Given the description of an element on the screen output the (x, y) to click on. 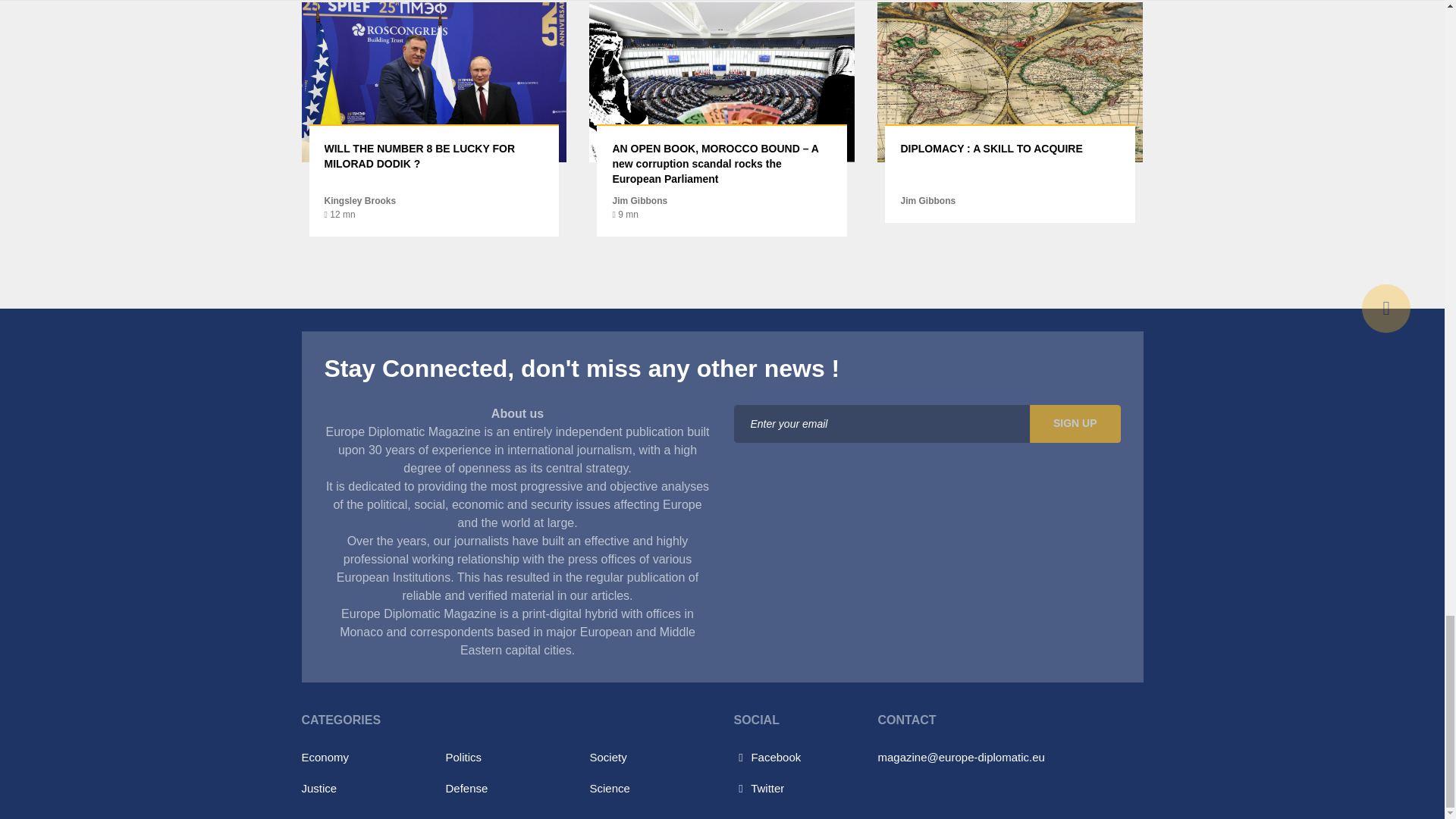
Justice (319, 788)
Economy (325, 757)
SIGN UP (1075, 423)
